Given the description of an element on the screen output the (x, y) to click on. 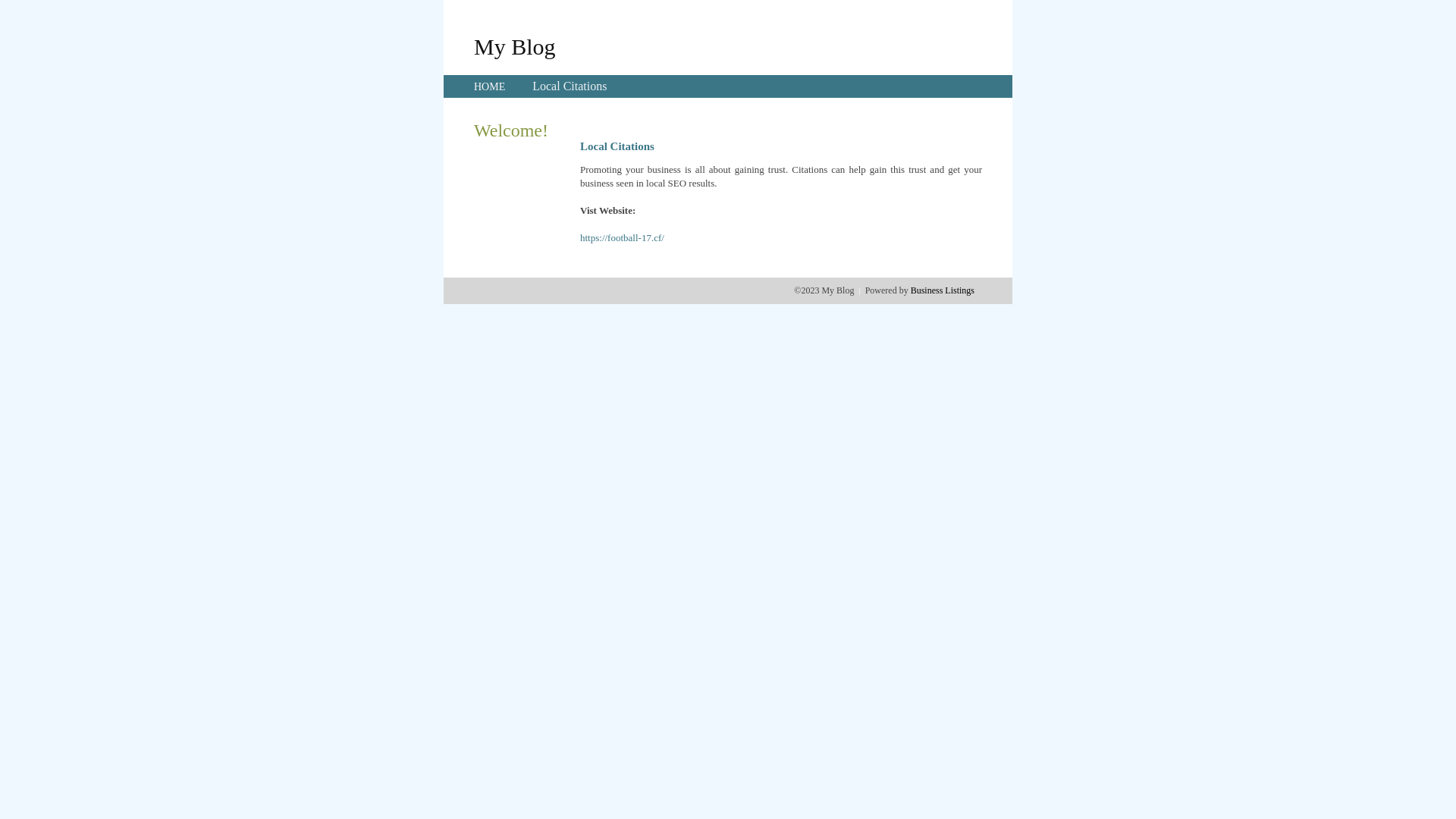
My Blog Element type: text (514, 46)
https://football-17.cf/ Element type: text (622, 237)
Business Listings Element type: text (942, 290)
HOME Element type: text (489, 86)
Local Citations Element type: text (569, 85)
